Given the description of an element on the screen output the (x, y) to click on. 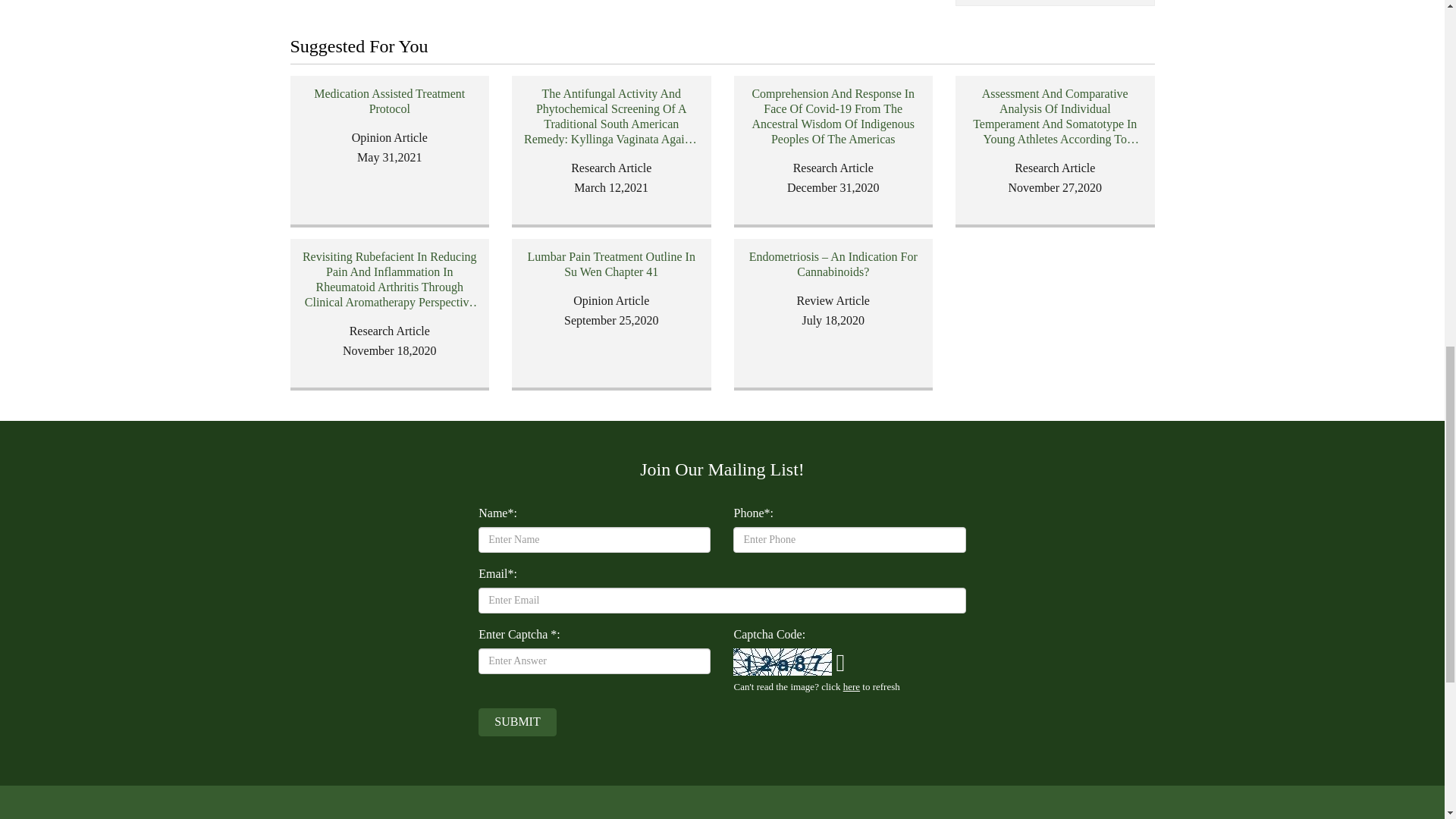
here (851, 686)
Lumbar Pain Treatment Outline In Su Wen Chapter 41 (611, 264)
Medication Assisted Treatment Protocol (389, 101)
